Given the description of an element on the screen output the (x, y) to click on. 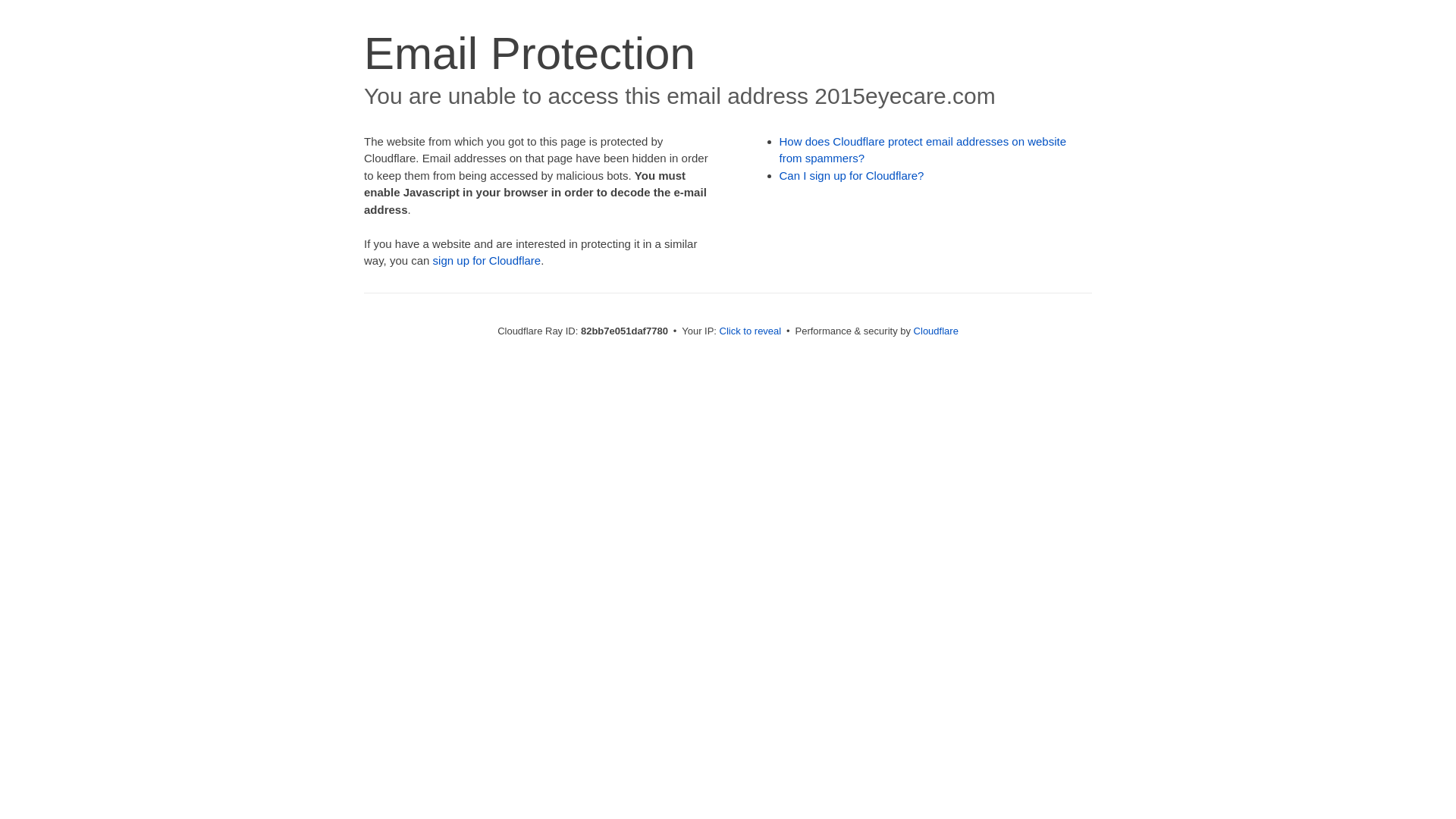
Cloudflare Element type: text (935, 330)
Can I sign up for Cloudflare? Element type: text (851, 175)
sign up for Cloudflare Element type: text (487, 260)
Click to reveal Element type: text (750, 330)
